Given the description of an element on the screen output the (x, y) to click on. 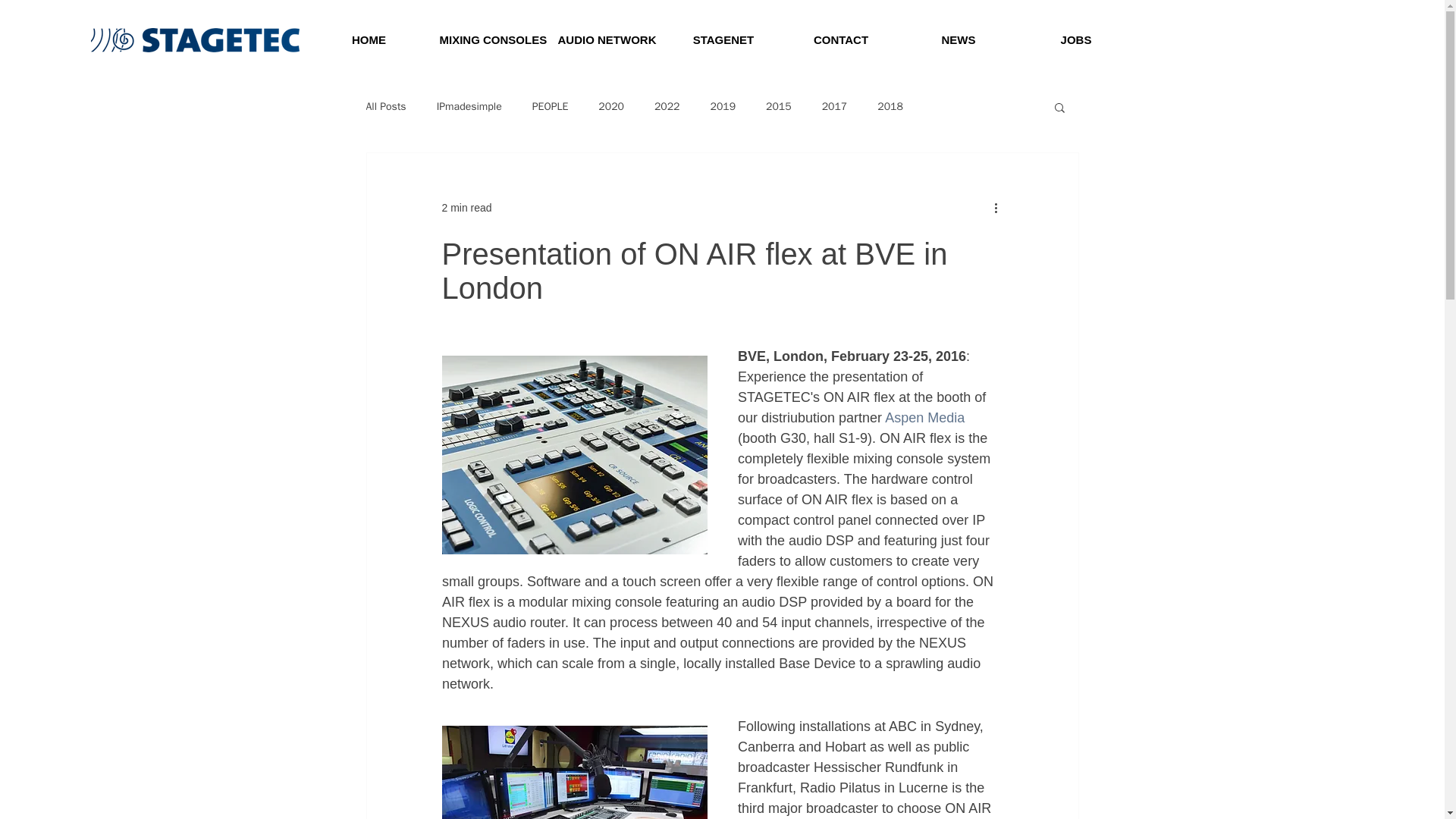
2022 (666, 106)
2019 (722, 106)
PEOPLE (550, 106)
2 min read (466, 207)
IPmadesimple (469, 106)
JOBS (1076, 40)
MIXING CONSOLES (487, 40)
HOME (368, 40)
NEWS (957, 40)
2020 (611, 106)
AUDIO NETWORK (604, 40)
STAGENET (722, 40)
All Posts (385, 106)
